Given the description of an element on the screen output the (x, y) to click on. 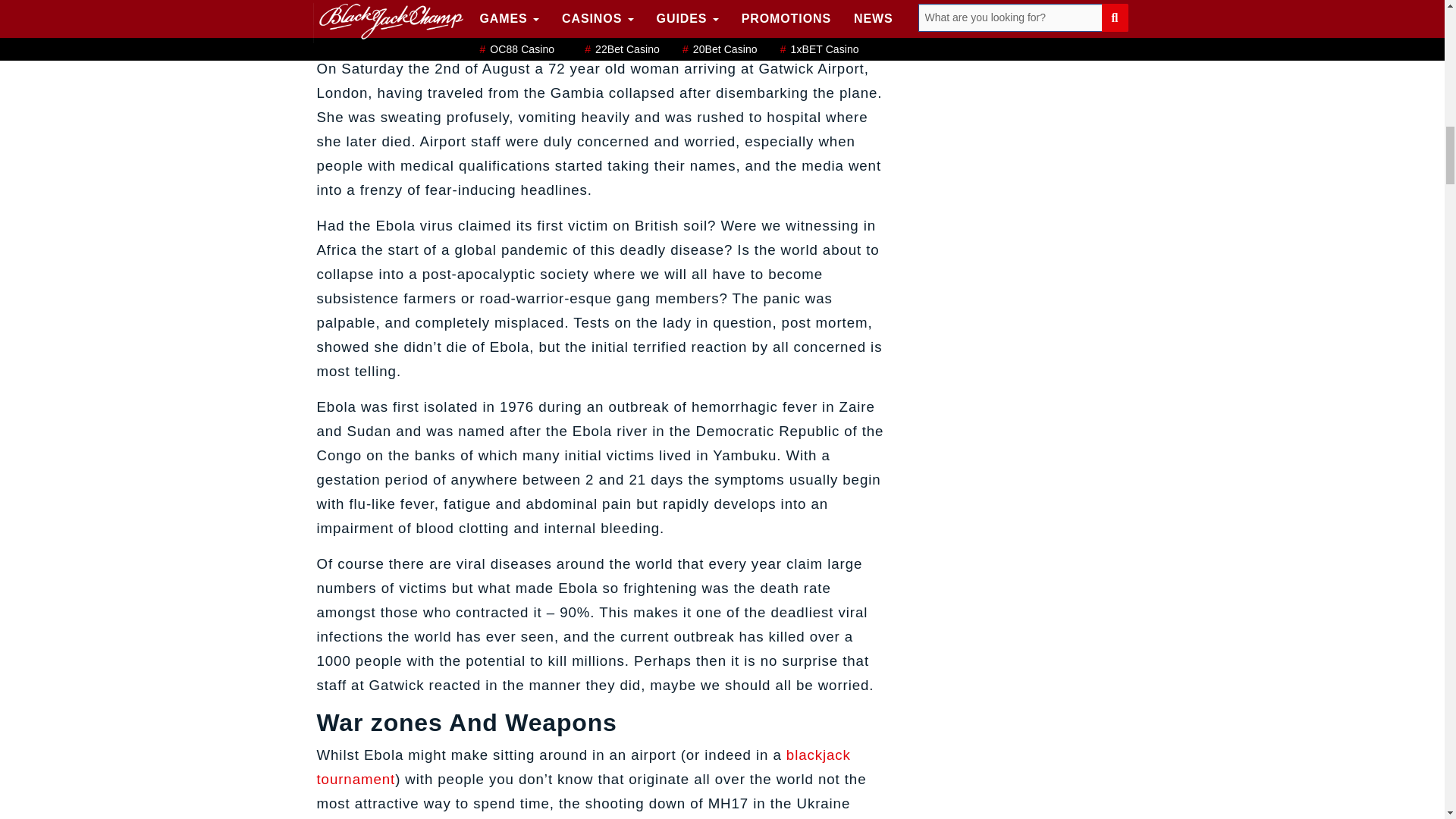
blackjack tournament (583, 766)
